Given the description of an element on the screen output the (x, y) to click on. 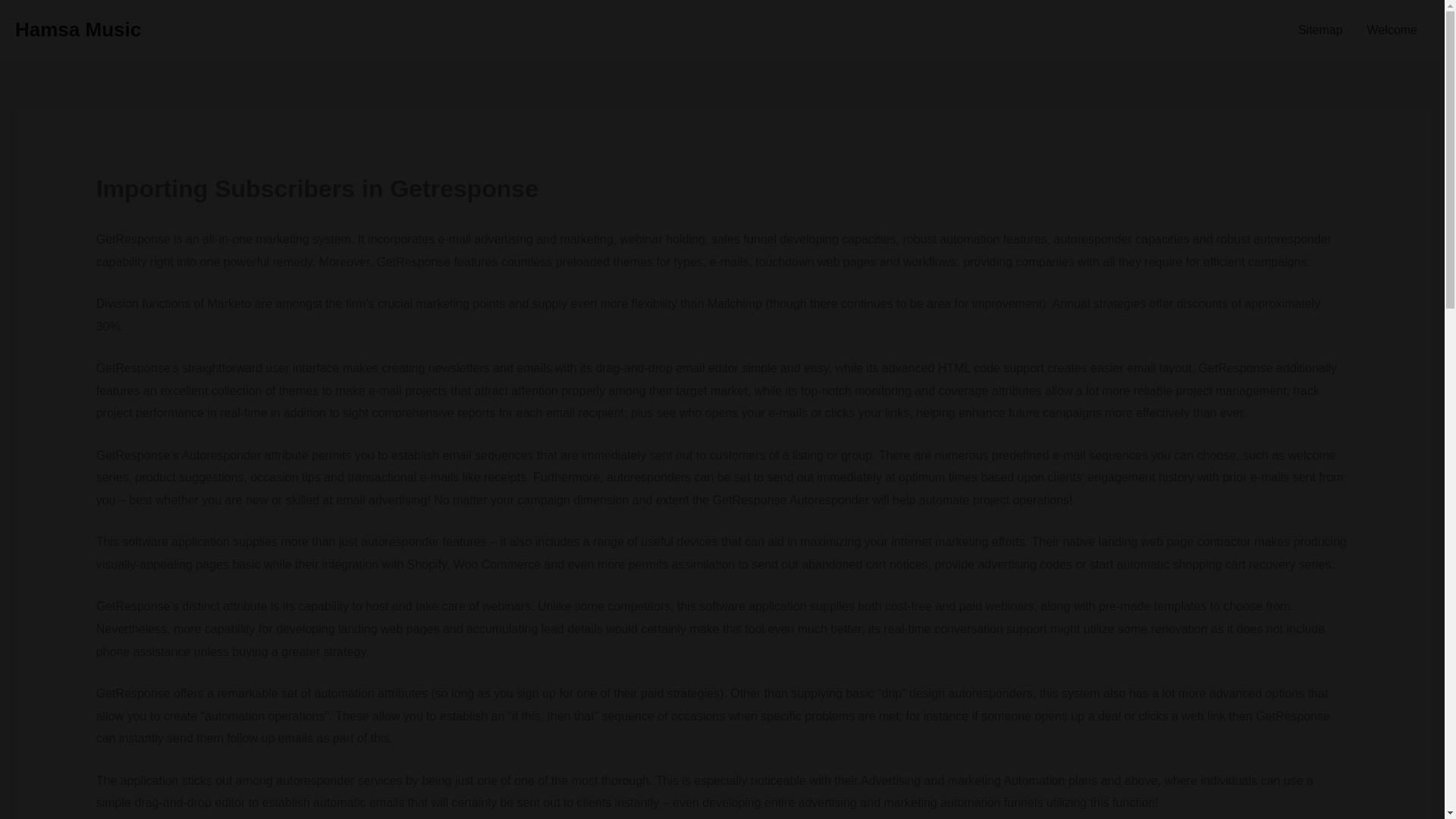
Sitemap (1320, 30)
Hamsa Music (77, 29)
Welcome (1392, 30)
